Given the description of an element on the screen output the (x, y) to click on. 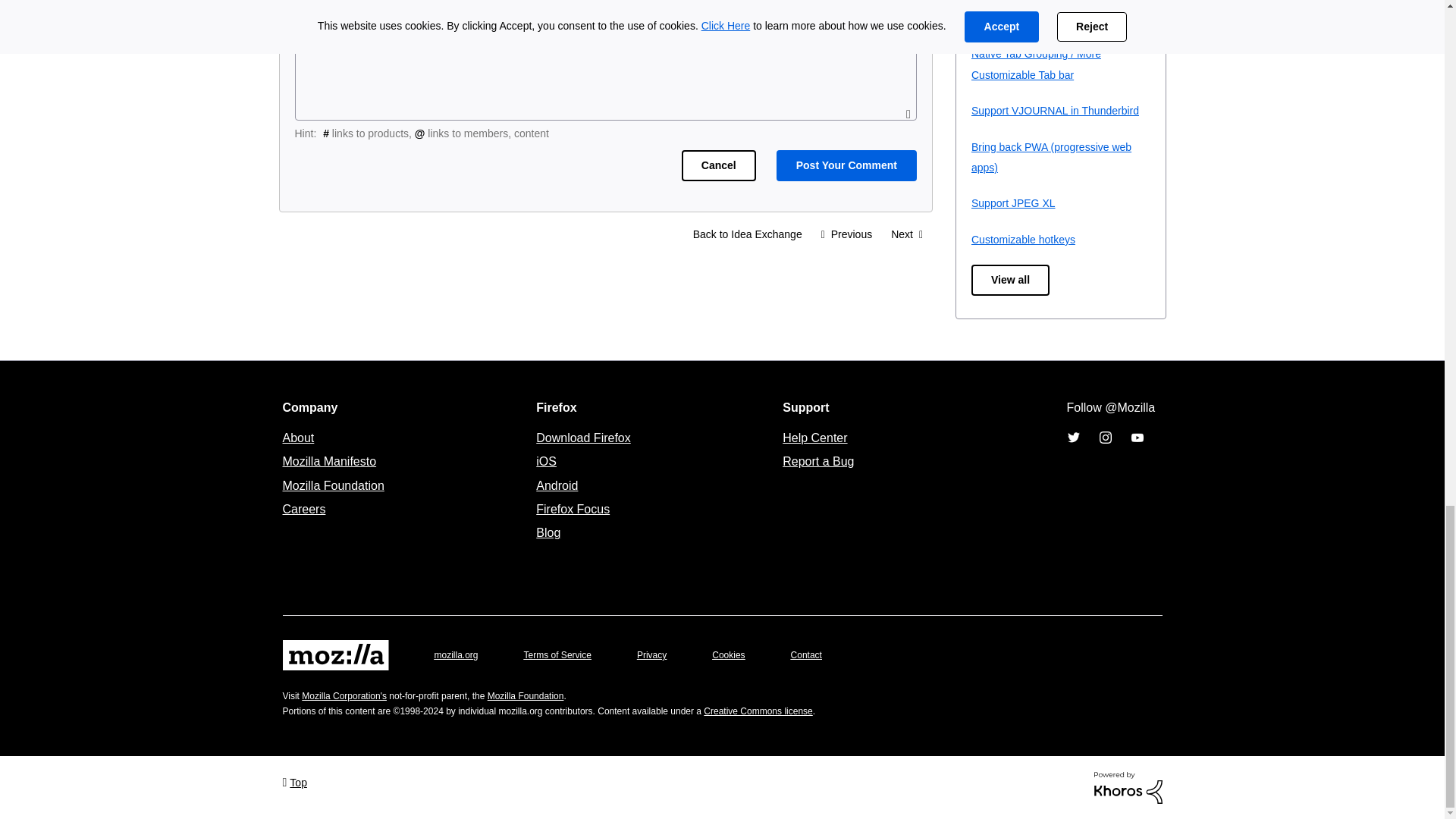
Cancel (718, 164)
Post Your Comment (846, 164)
Top (293, 781)
Top (293, 781)
